Given the description of an element on the screen output the (x, y) to click on. 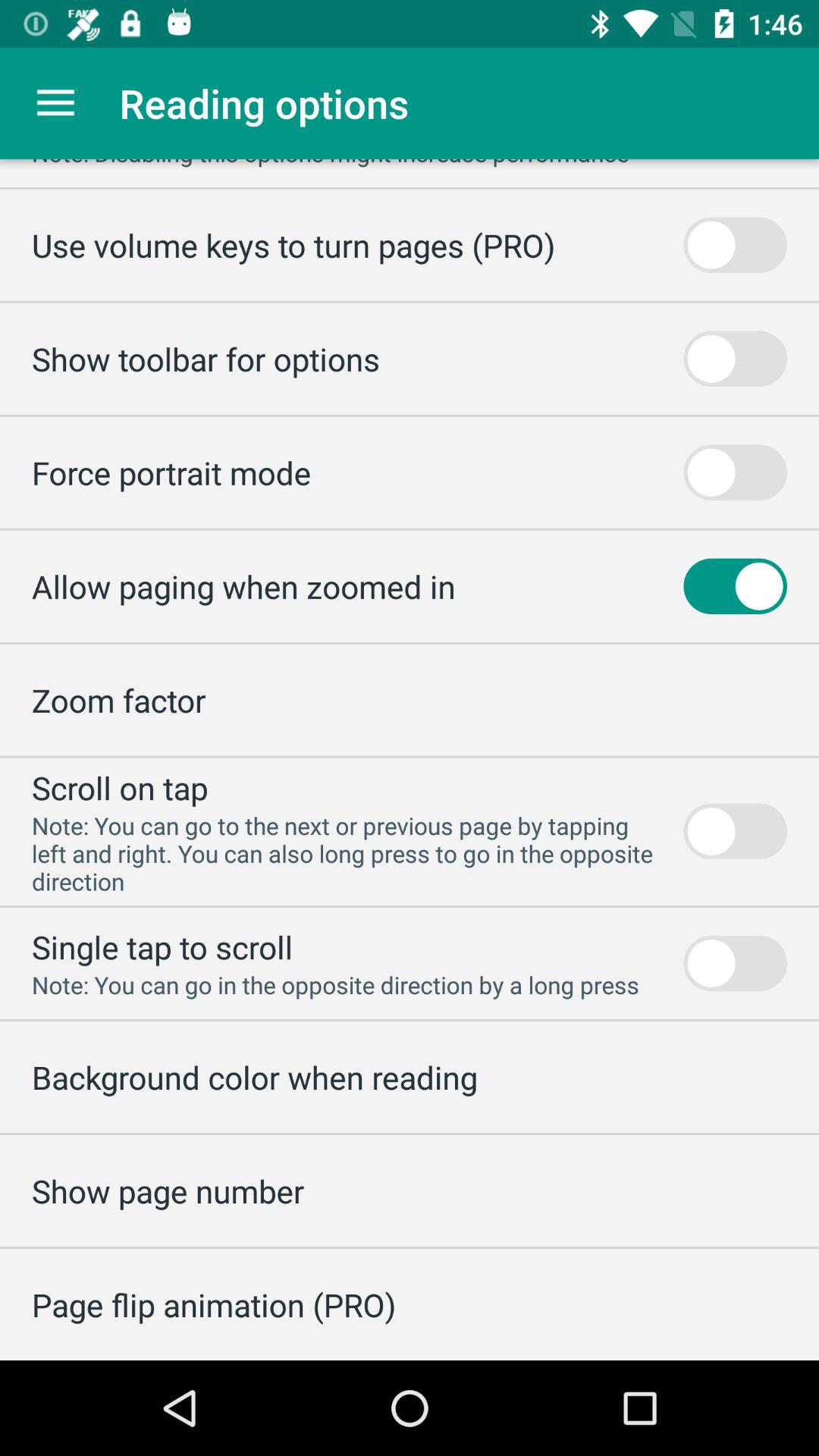
press the show toolbar for icon (205, 358)
